Given the description of an element on the screen output the (x, y) to click on. 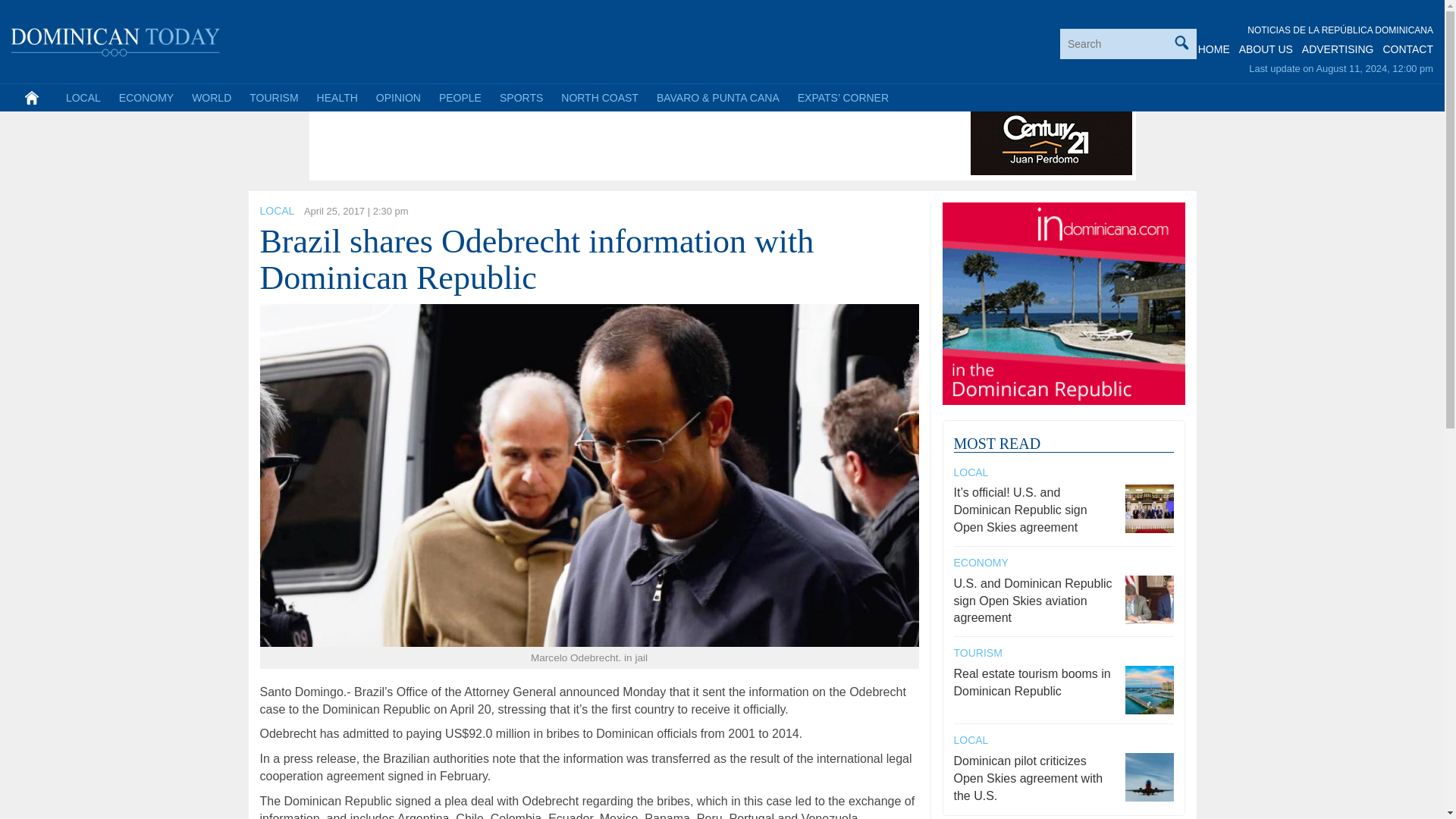
WORLD (211, 97)
HEALTH (336, 97)
CONTACT (1406, 49)
HOME (1214, 49)
Advertisement (589, 141)
NORTH COAST (599, 97)
ADVERTISING (1337, 49)
SPORTS (520, 97)
LOCAL (83, 97)
